Given the description of an element on the screen output the (x, y) to click on. 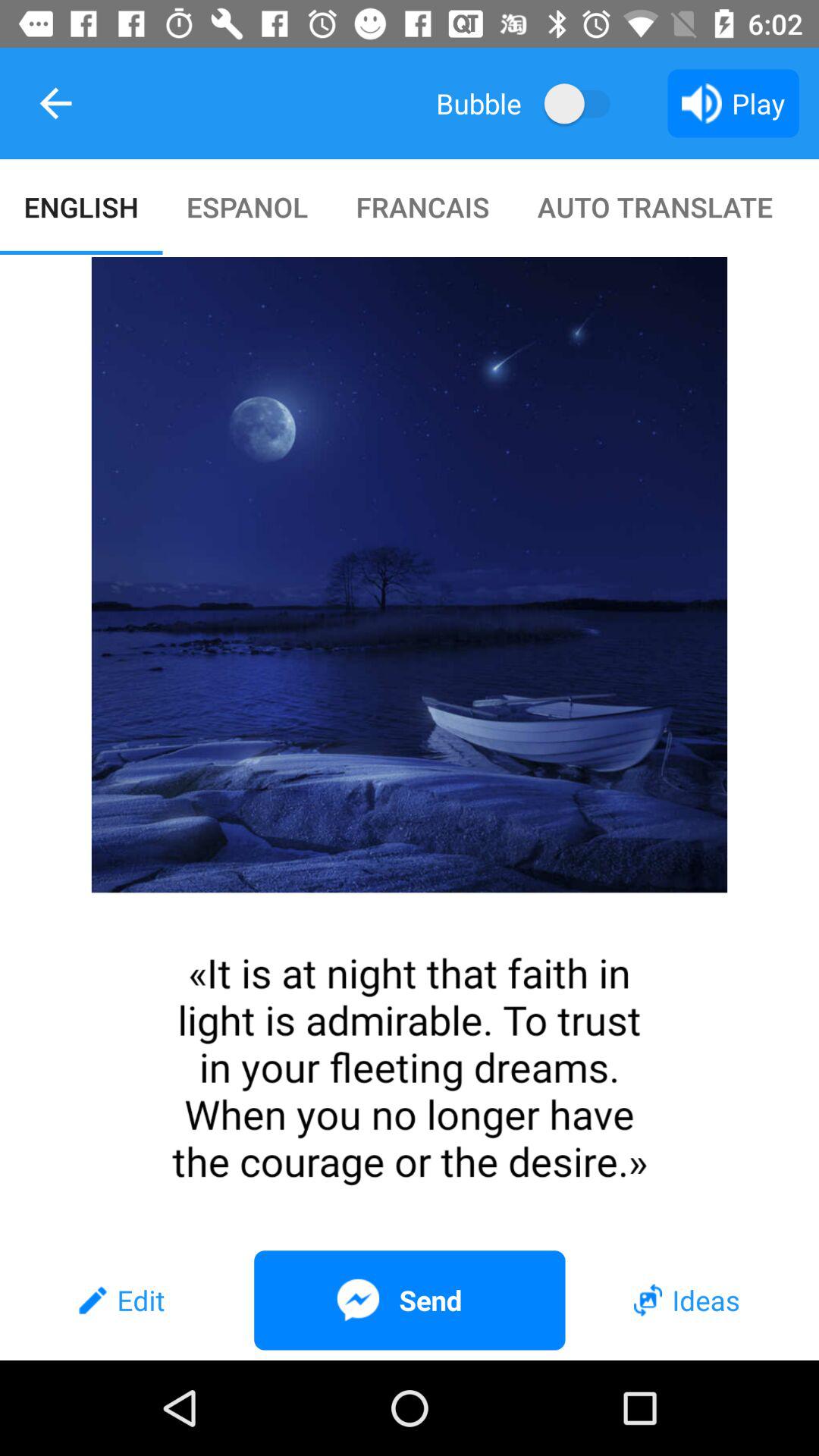
turn off item at the center (409, 748)
